Given the description of an element on the screen output the (x, y) to click on. 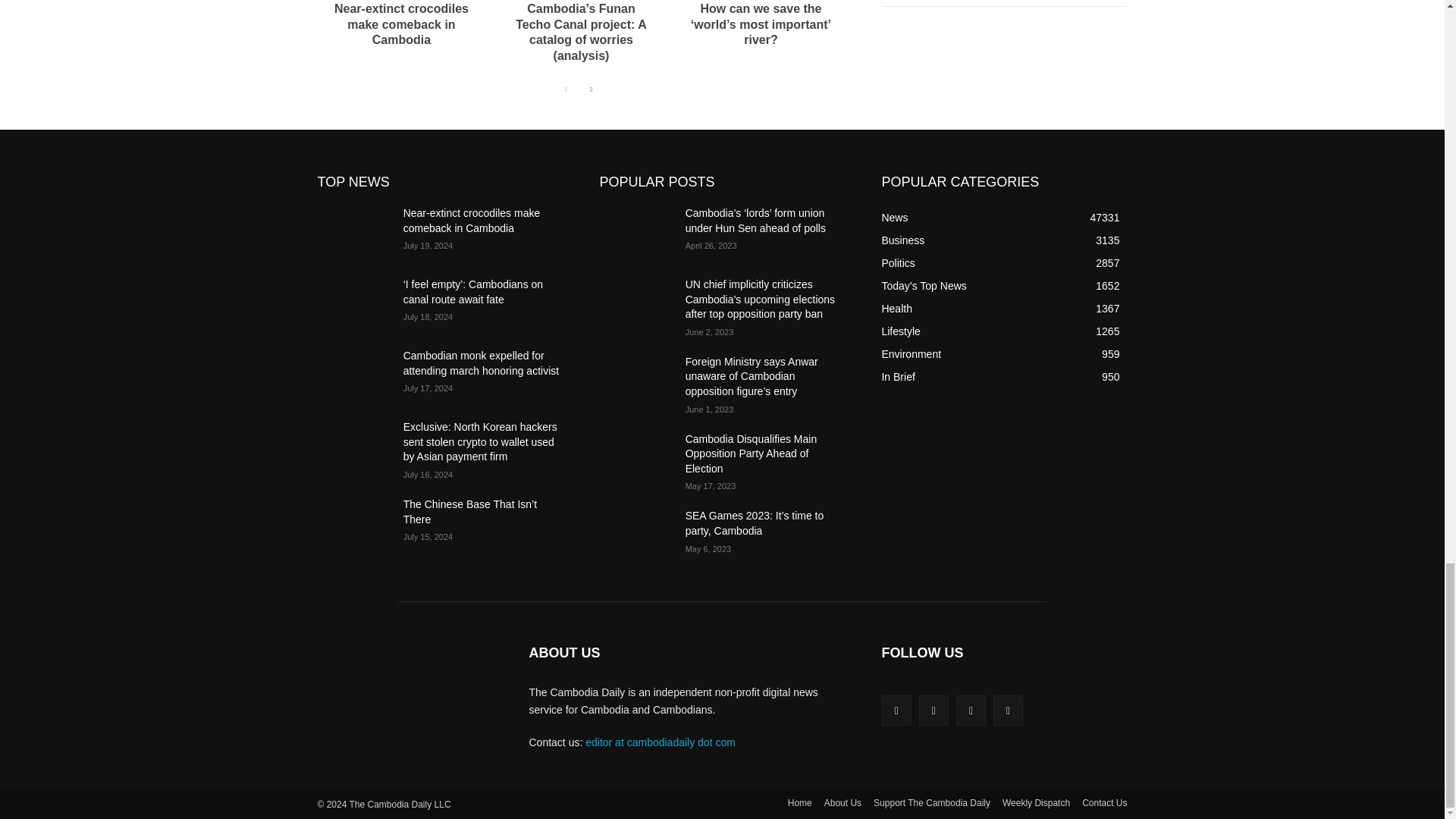
Near-extinct crocodiles make comeback in Cambodia (401, 24)
Near-extinct crocodiles make comeback in Cambodia (401, 24)
